Given the description of an element on the screen output the (x, y) to click on. 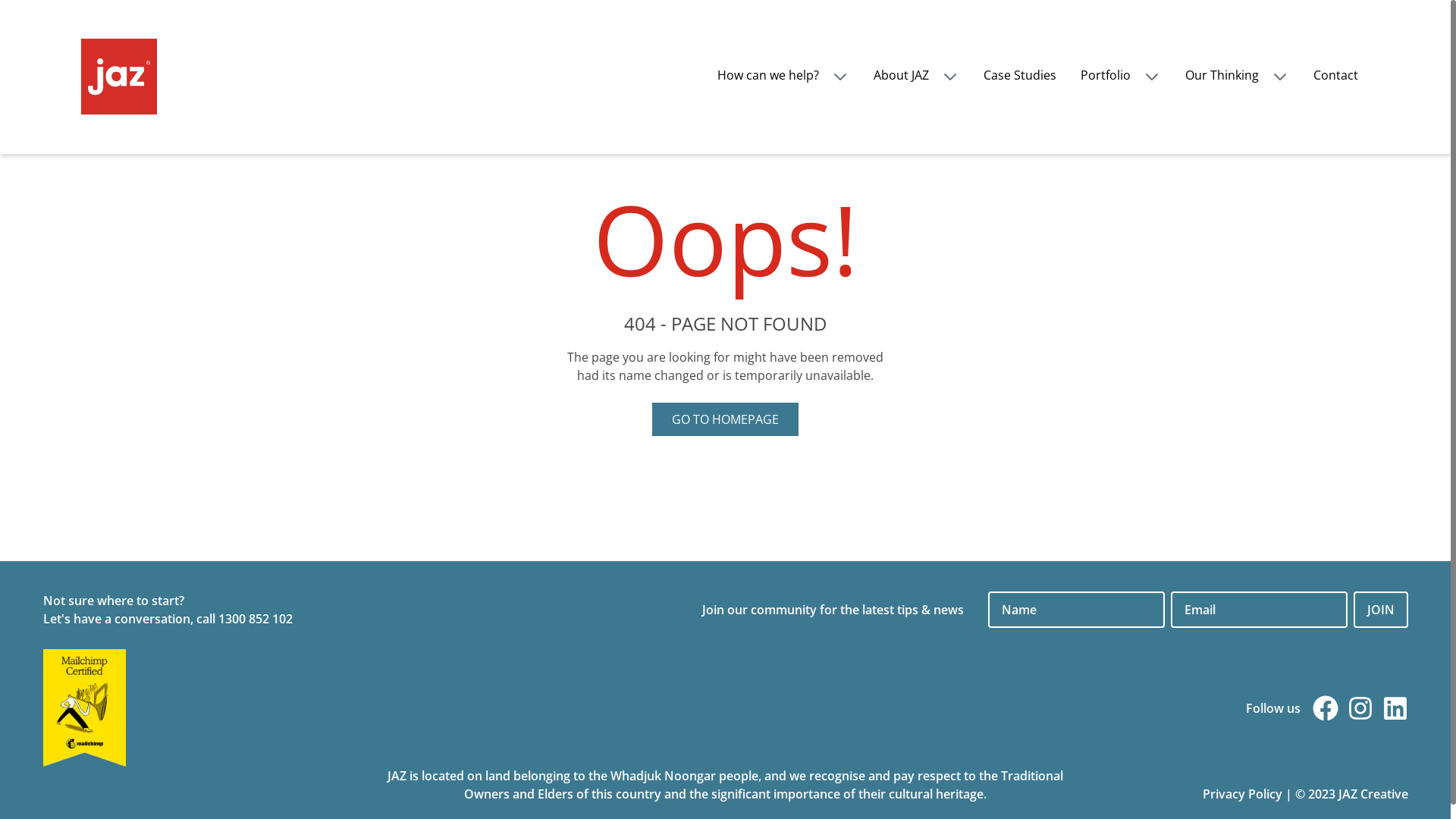
Case Studies Element type: text (1018, 74)
JOIN Element type: text (1379, 609)
Our Thinking Element type: text (1236, 74)
About JAZ Element type: text (916, 74)
Contact Element type: text (1335, 74)
Contact Element type: text (1335, 74)
How can we help? Element type: text (783, 74)
Privacy Policy Element type: text (1242, 793)
1300 852 102 Element type: text (255, 618)
GO TO HOMEPAGE Element type: text (725, 419)
Case Studies Element type: text (1018, 74)
Portfolio Element type: text (1119, 74)
